Given the description of an element on the screen output the (x, y) to click on. 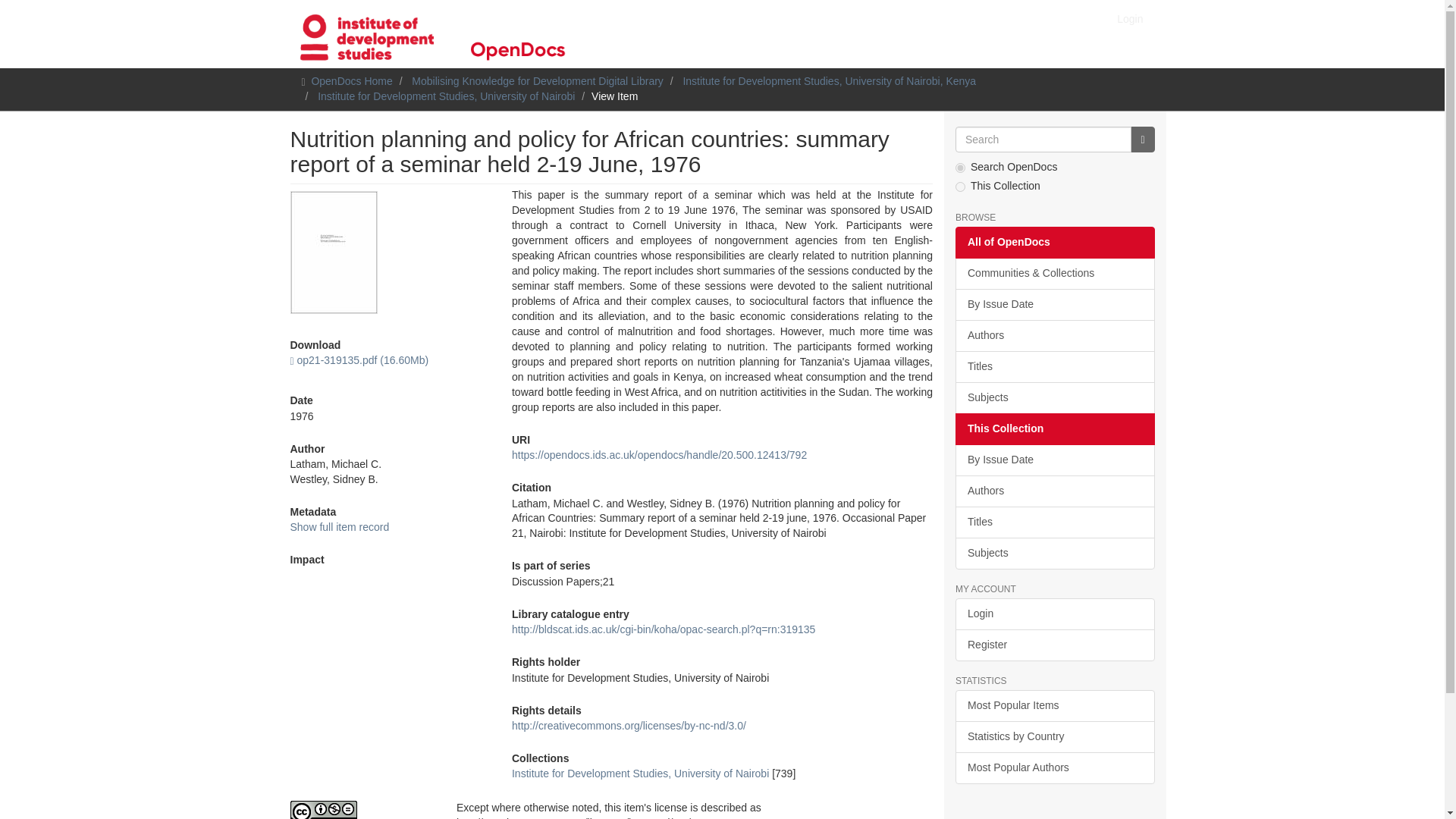
Go (1142, 139)
Authors (1054, 490)
Show full item record (338, 526)
Subjects (1054, 398)
Titles (1054, 367)
By Issue Date (1054, 459)
OpenDocs Home (351, 80)
Institute for Development Studies, University of Nairobi (446, 96)
This Collection (1054, 429)
All of OpenDocs (1054, 242)
Authors (1054, 336)
Login (1129, 18)
Institute for Development Studies, University of Nairobi (640, 773)
By Issue Date (1054, 305)
